Given the description of an element on the screen output the (x, y) to click on. 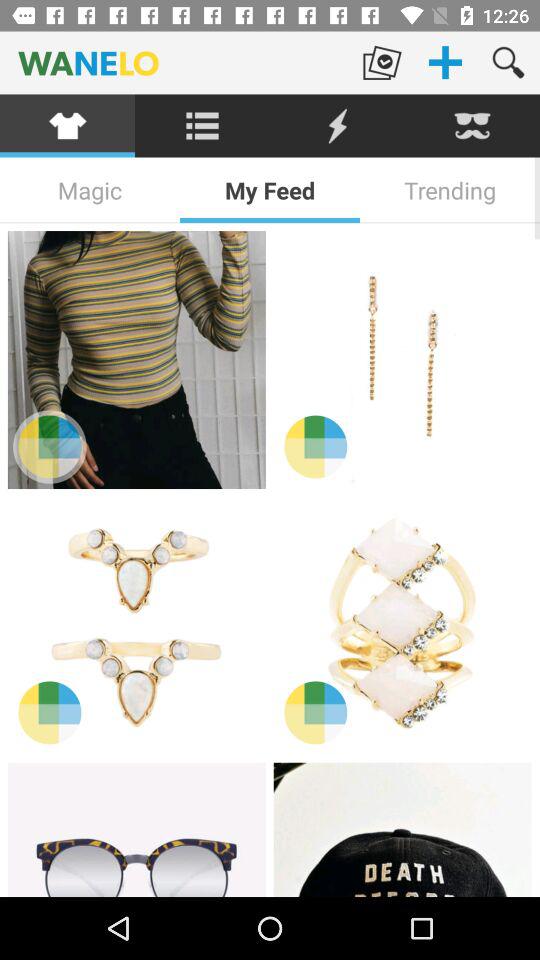
select this item (402, 625)
